Given the description of an element on the screen output the (x, y) to click on. 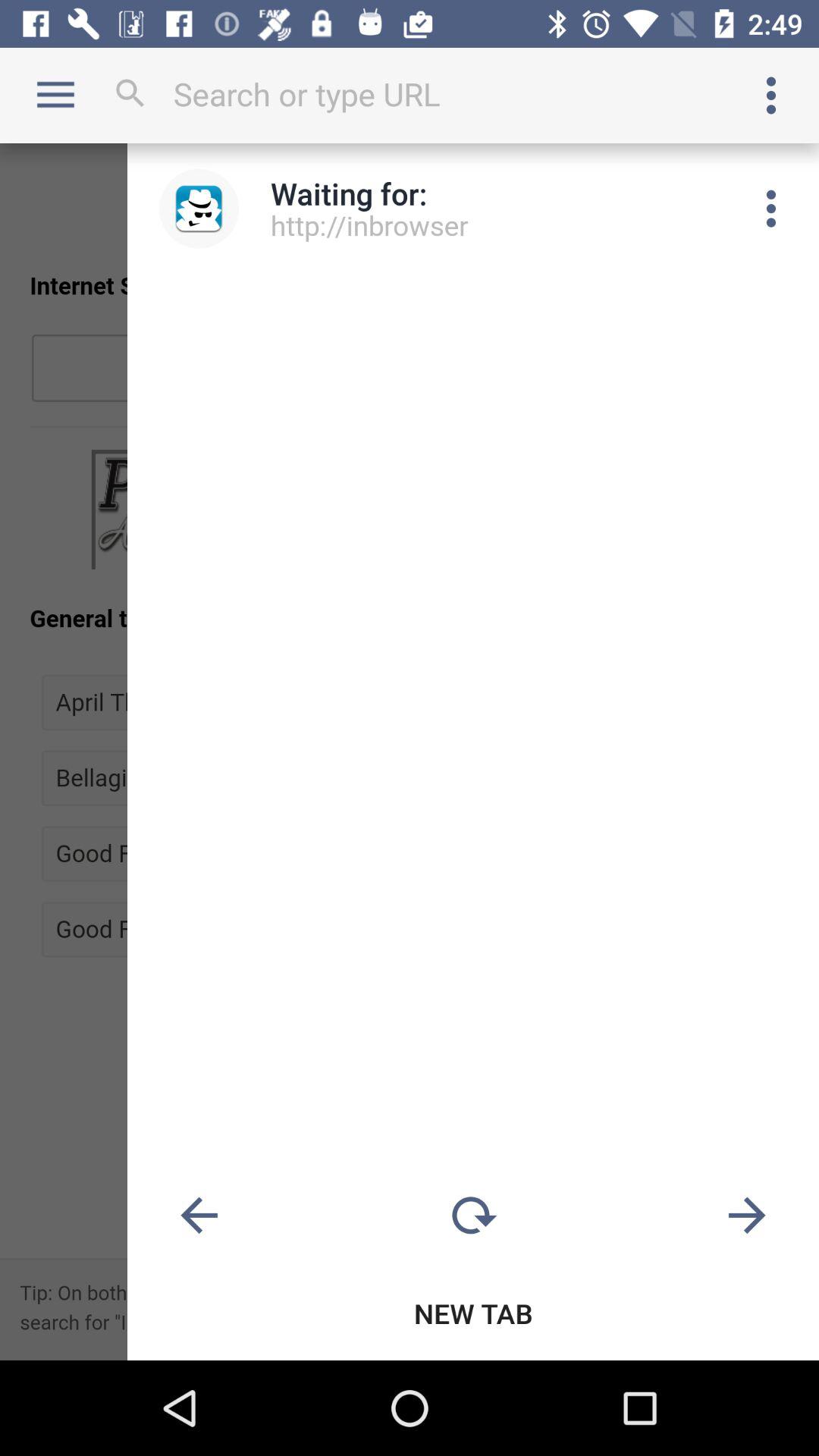
turn off the item above the new tab item (747, 1216)
